Given the description of an element on the screen output the (x, y) to click on. 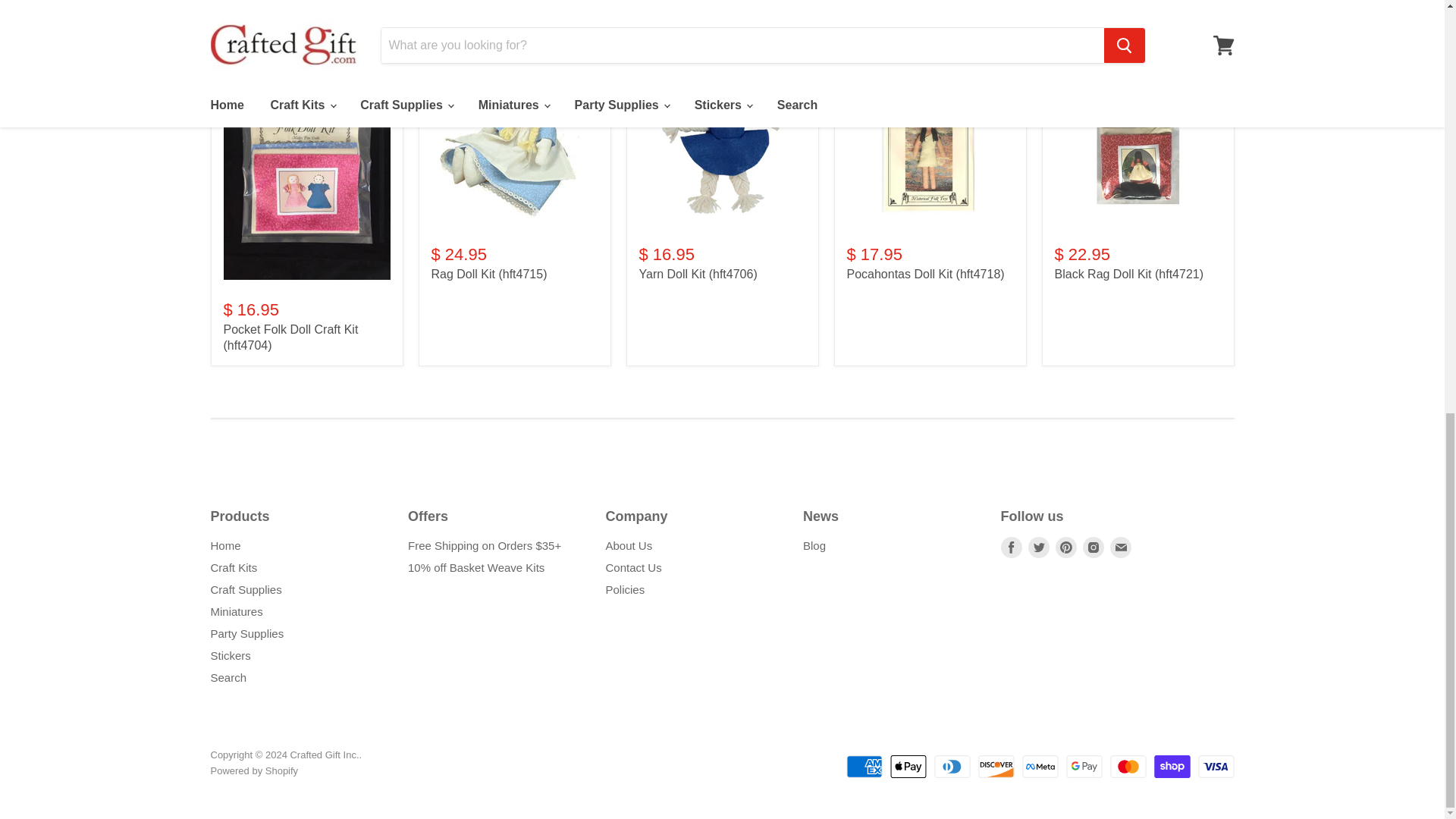
Facebook (1011, 547)
Instagram (1093, 547)
Pinterest (1066, 547)
E-mail (1120, 547)
Twitter (1038, 547)
